Given the description of an element on the screen output the (x, y) to click on. 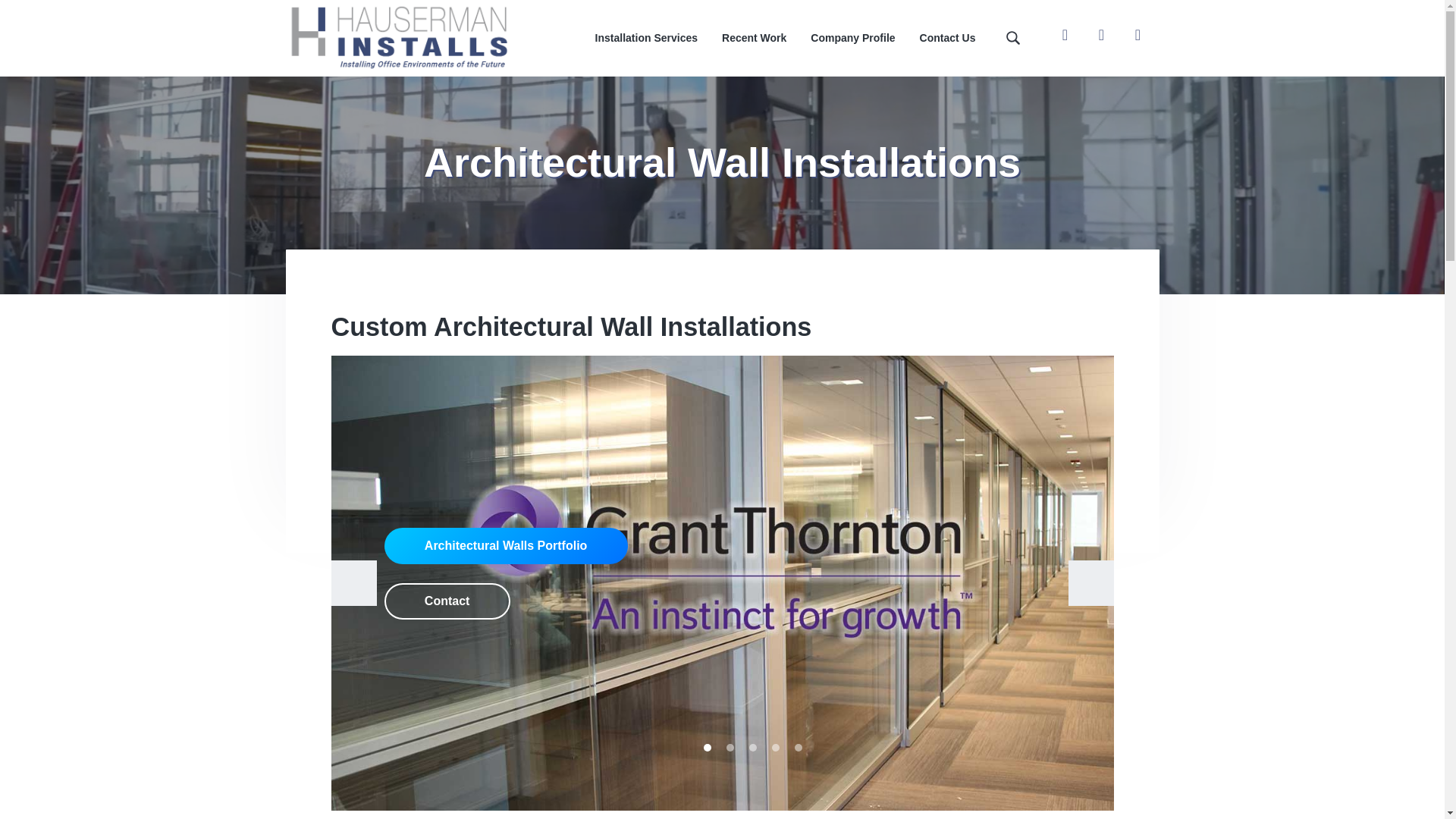
Contact Us (947, 37)
Instagram (1101, 34)
Contact (446, 601)
LinkedIn (1137, 34)
Facebook (1064, 34)
Architectural Walls Portfolio (505, 545)
Next (1090, 583)
Installation Services (646, 37)
2 (729, 747)
